Given the description of an element on the screen output the (x, y) to click on. 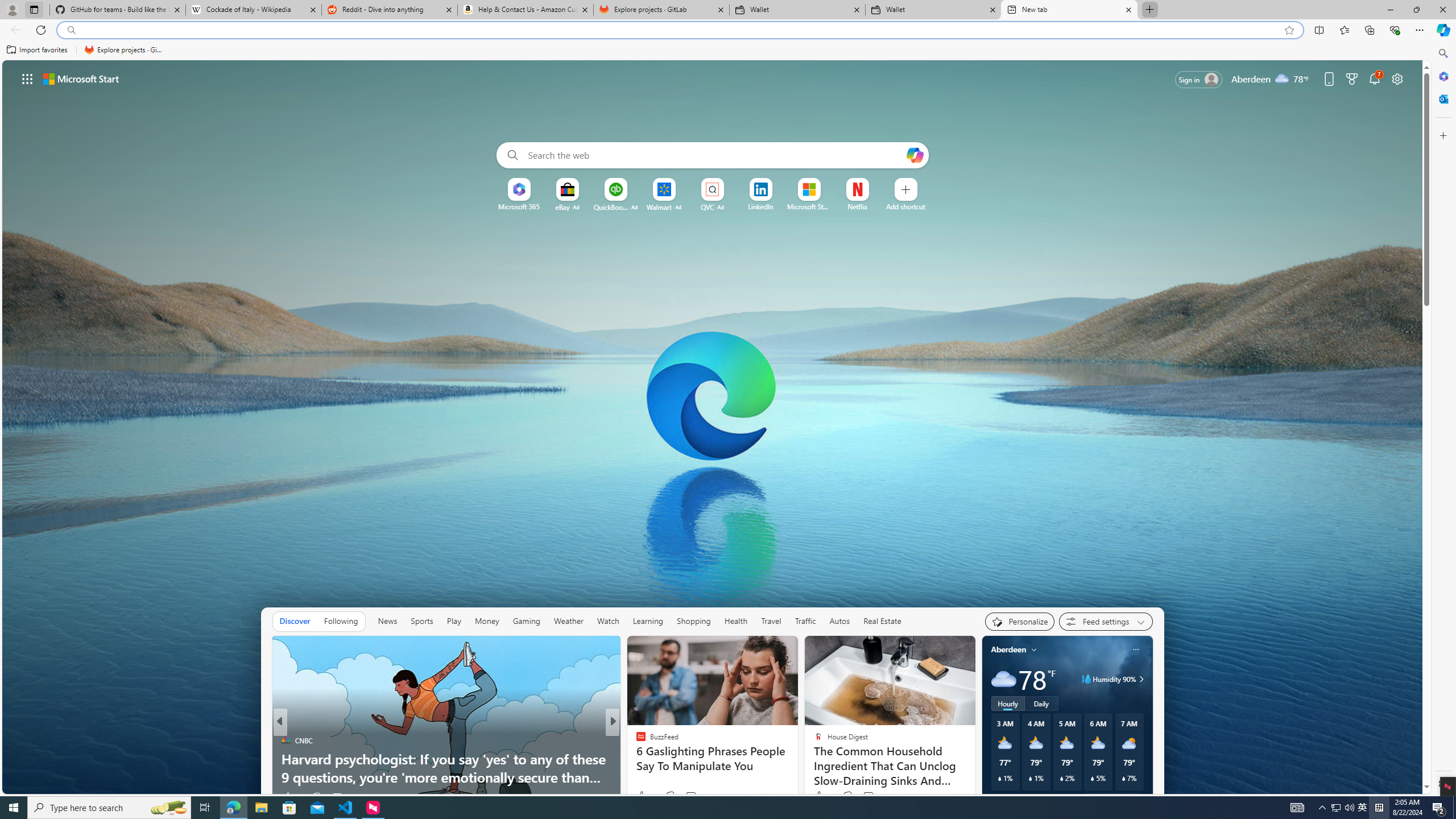
Aberdeen (1008, 649)
Daily (1041, 703)
Learning (648, 621)
Cloudy (1003, 678)
Travel (771, 621)
33 Like (642, 796)
91 Like (642, 796)
